Given the description of an element on the screen output the (x, y) to click on. 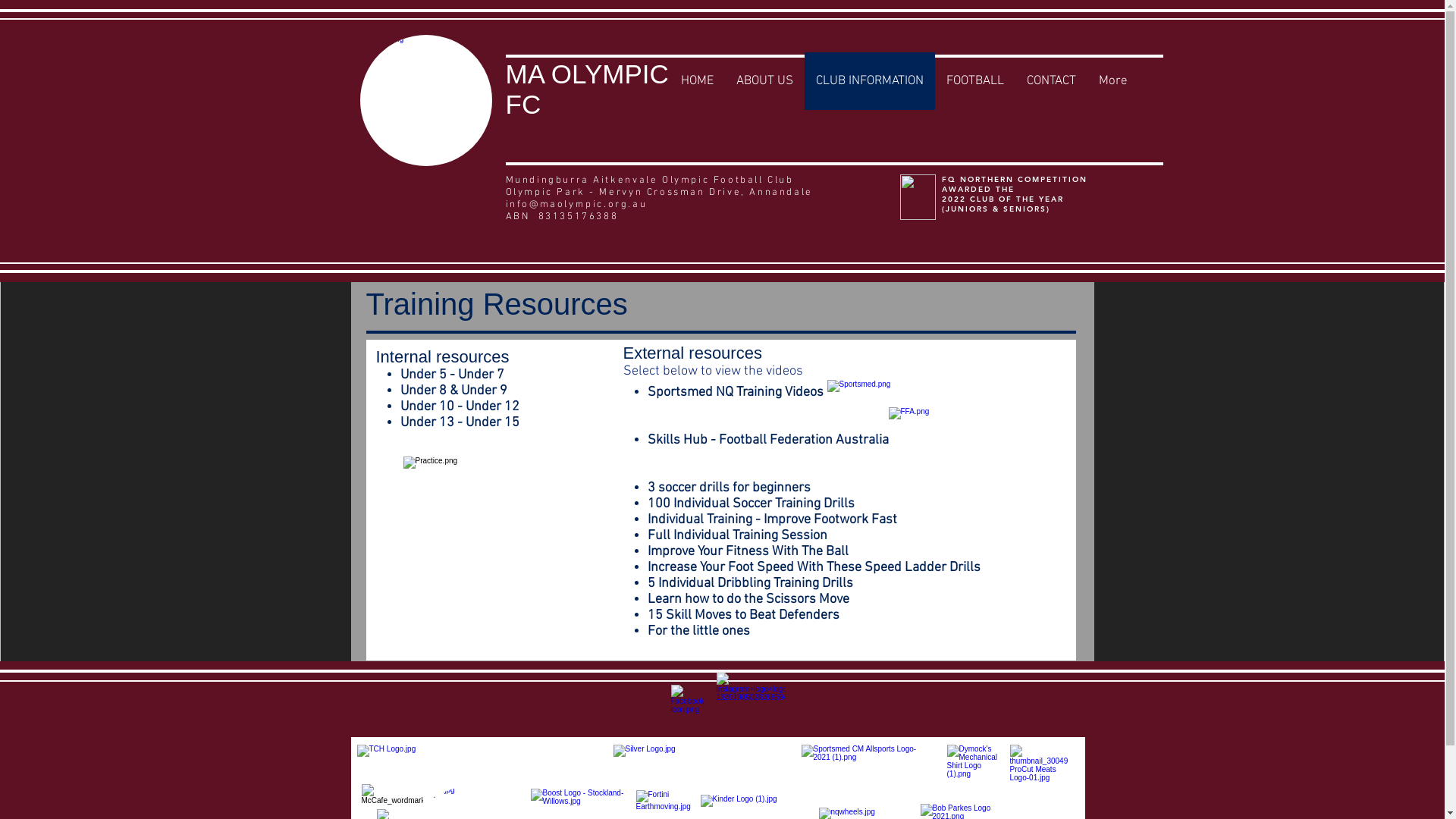
Increase Your Foot Speed With These Speed Ladder Drills Element type: text (813, 567)
5 Skill Moves to Beat Defenders Element type: text (747, 615)
CLUB INFORMATION Element type: text (868, 80)
CONTACT Element type: text (1050, 80)
Sportsmed NQ Training Videos Element type: text (735, 392)
Full Individual Training Session Element type: text (737, 535)
Individual Training - Improve Footwork Fast Element type: text (772, 519)
Improve Your Fitness With The Ball Element type: text (747, 551)
Under 13 - Under 15 Element type: text (459, 422)
100 Individual Soccer Training Drills Element type: text (750, 503)
Skills Hub - Football Federation Australia Element type: text (767, 440)
Under 10 - Under 12 Element type: text (459, 406)
Under 5 - Under 7 Element type: text (452, 374)
For the little ones Element type: text (698, 631)
Learn how to do the Scissors Move Element type: text (748, 599)
5 Individual Dribbling Training Drills Element type: text (750, 583)
FOOTBALL Element type: text (974, 80)
Under 8 & Under 9 Element type: text (453, 390)
ABOUT US Element type: text (764, 80)
HOME Element type: text (696, 80)
info@maolympic.org.au Element type: text (575, 204)
MA OLYMPIC FC Element type: text (586, 89)
3 soccer drills for beginners  Element type: text (730, 487)
